Given the description of an element on the screen output the (x, y) to click on. 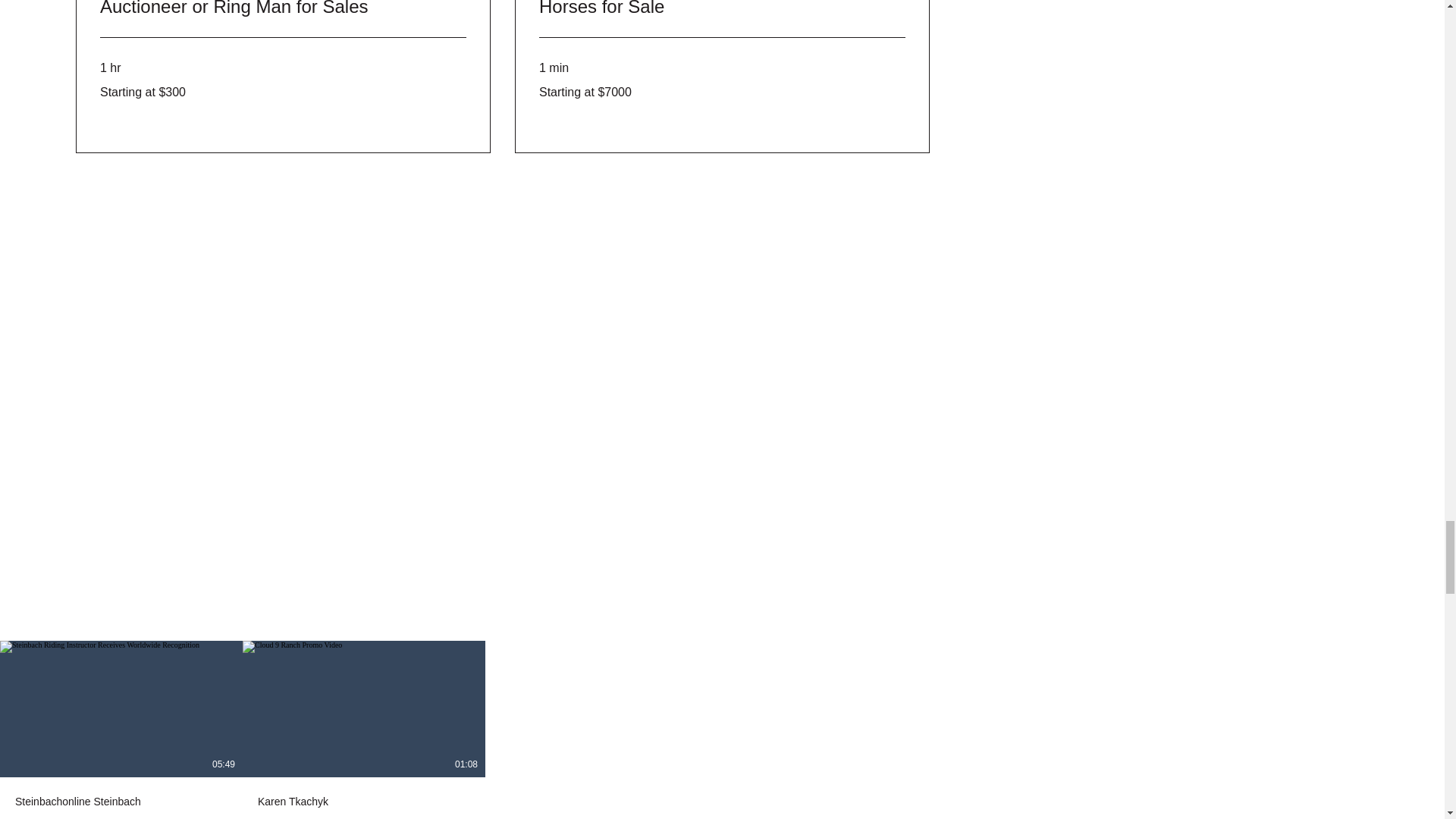
Steinbach Riding Instructor Receives Worldwide Recognition (120, 816)
Horses for Sale (721, 9)
Cloud 9 Ranch Promo Video (363, 816)
Auctioneer or Ring Man for Sales (282, 9)
